Given the description of an element on the screen output the (x, y) to click on. 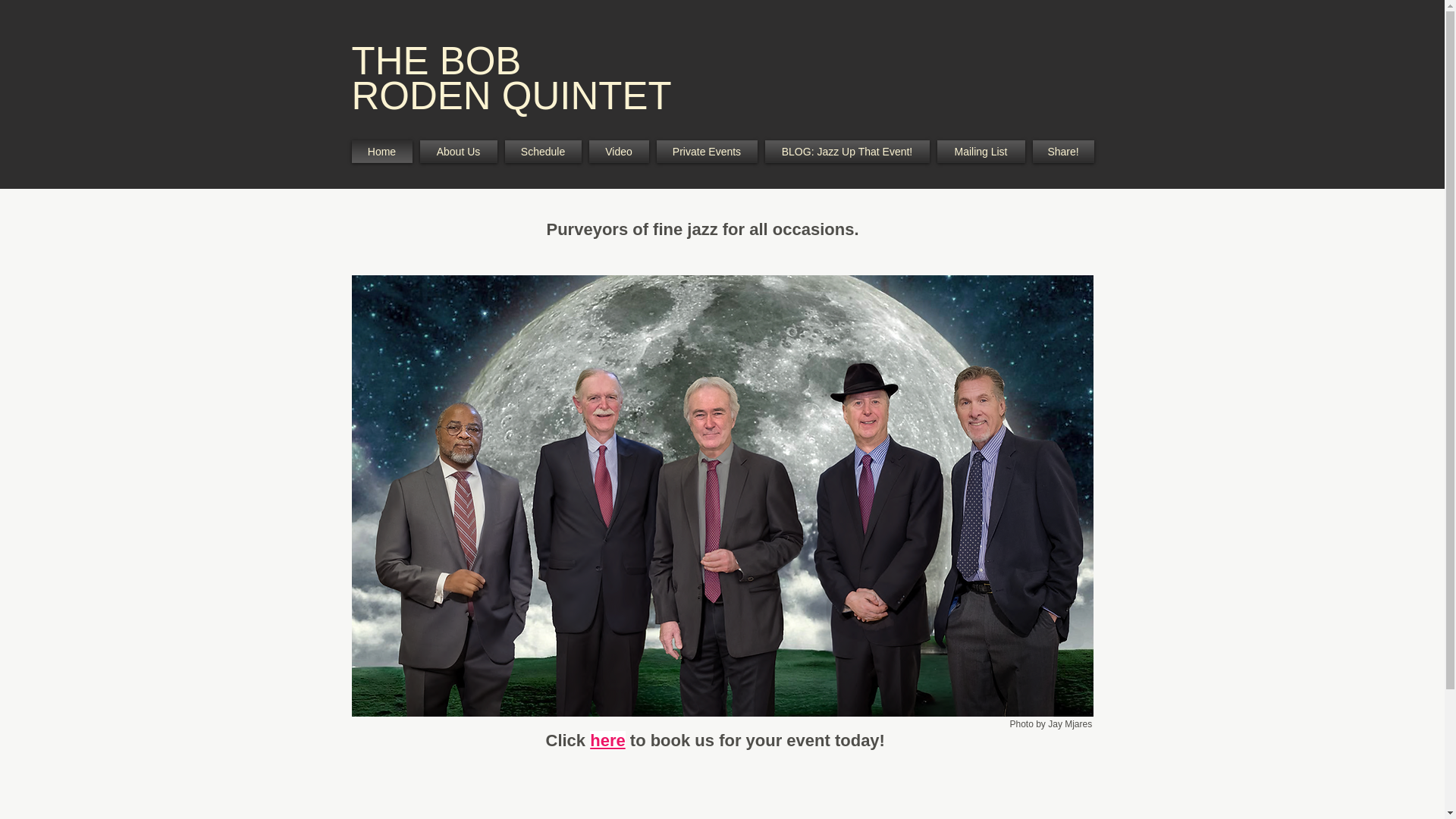
BOB RODEN  (436, 78)
Share! (1060, 151)
THE  (395, 60)
Private Events (706, 151)
QUINTET (586, 95)
Home (384, 151)
Schedule (542, 151)
Mailing List (980, 151)
Video (618, 151)
here (606, 740)
BLOG: Jazz Up That Event! (847, 151)
About Us (457, 151)
